Given the description of an element on the screen output the (x, y) to click on. 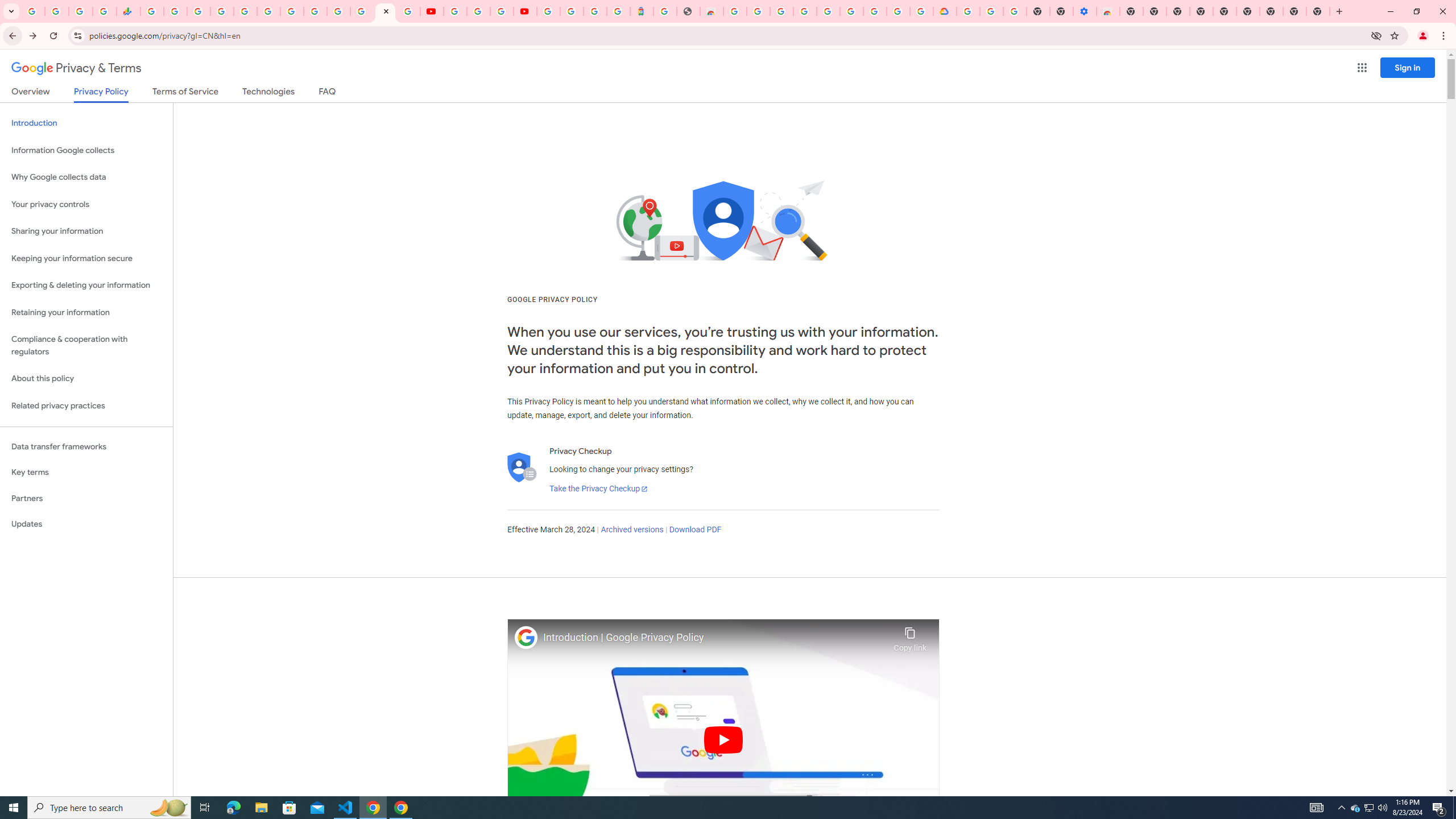
About this policy (86, 379)
Your privacy controls (86, 204)
Google Account Help (478, 11)
Information Google collects (86, 150)
Settings - Accessibility (1085, 11)
Atour Hotel - Google hotels (641, 11)
Sign in - Google Accounts (827, 11)
